Given the description of an element on the screen output the (x, y) to click on. 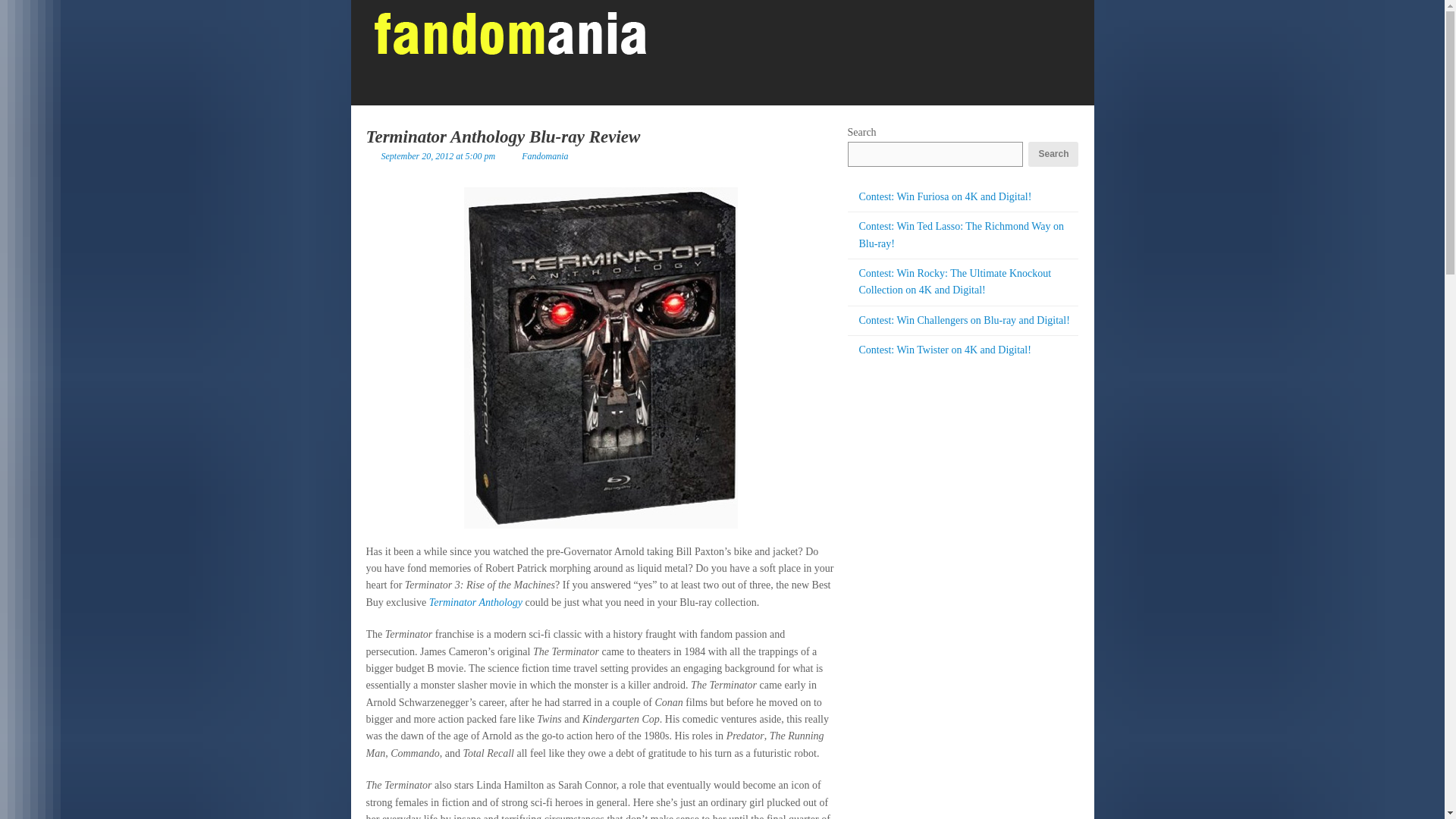
Posts by Fandomania (544, 155)
Fandomania (544, 155)
Contest: Win Ted Lasso: The Richmond Way on Blu-ray! (960, 234)
Terminator Anthology (475, 602)
September 20, 2012 at 5:00 pm (437, 155)
Contest: Win Furiosa on 4K and Digital! (944, 196)
Terminator Anthology Blu-ray Review (502, 136)
Search (1052, 154)
